Given the description of an element on the screen output the (x, y) to click on. 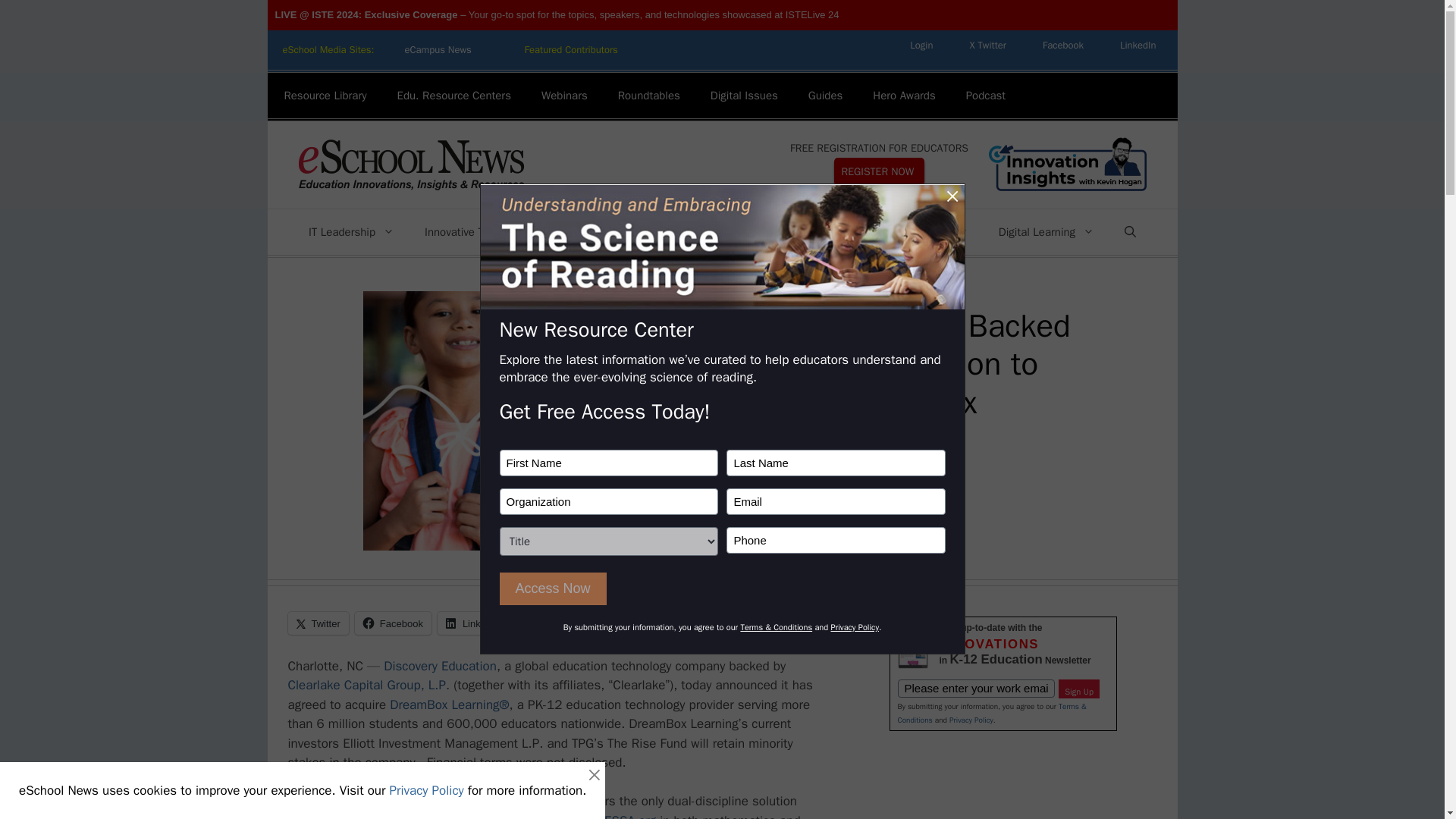
Click to share on LinkedIn (473, 622)
Featured Contributors (571, 50)
Roundtables (648, 94)
Hero Awards (903, 94)
Click to email a link to a friend (542, 622)
Webinars (563, 94)
View all posts by eSchool News Staff (777, 483)
Facebook (1063, 45)
Click to share on Twitter (318, 622)
Access Now (552, 588)
LinkedIn (1138, 45)
eCampus News (437, 50)
eClassroom News (571, 50)
Digital Issues (744, 94)
Resource Library (324, 94)
